Given the description of an element on the screen output the (x, y) to click on. 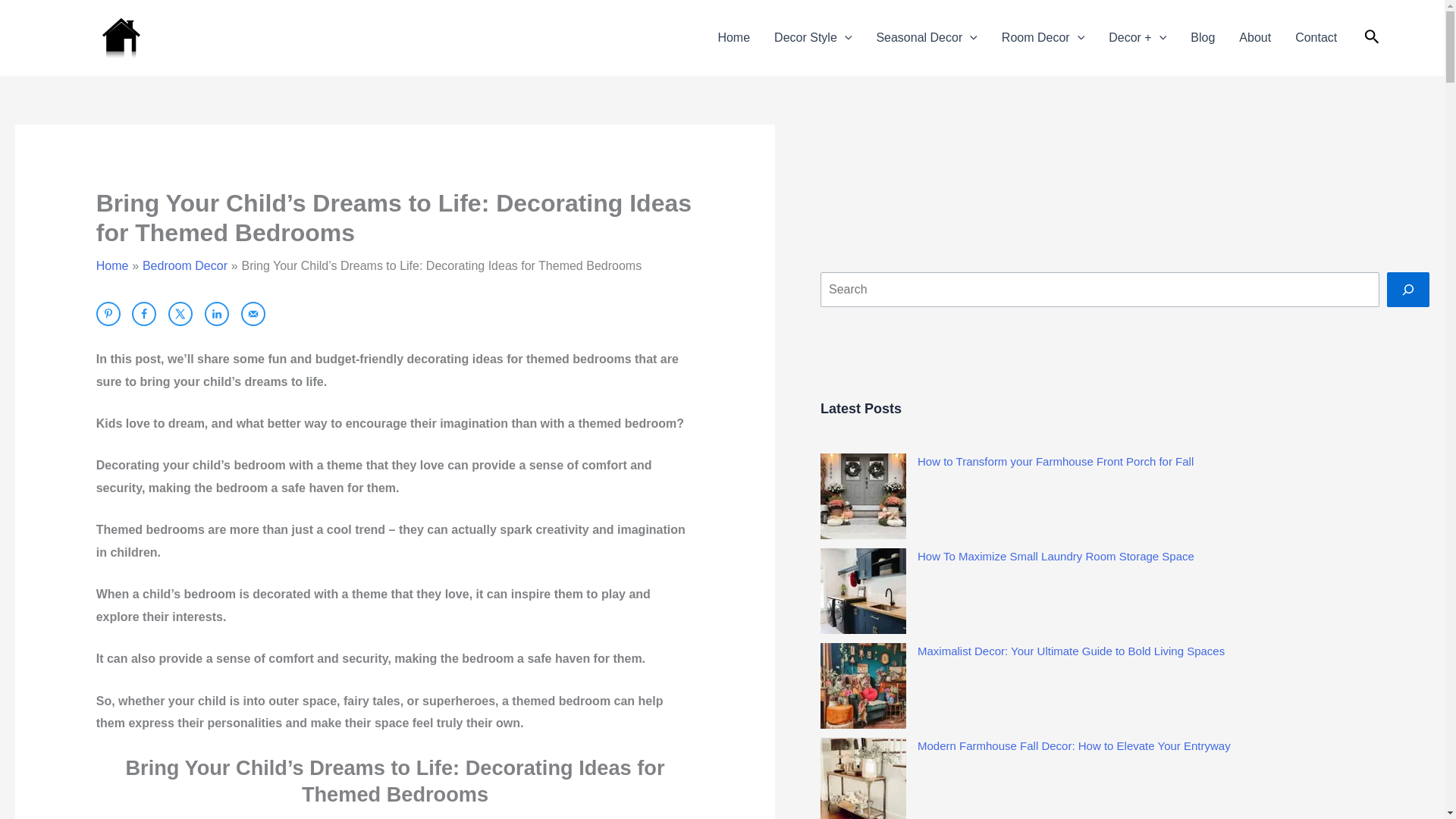
Decor Style (812, 38)
Seasonal Decor (925, 38)
Room Decor (1043, 38)
Share on X (180, 313)
Send over email (252, 313)
Share on Facebook (143, 313)
Share on LinkedIn (216, 313)
Save to Pinterest (108, 313)
